Given the description of an element on the screen output the (x, y) to click on. 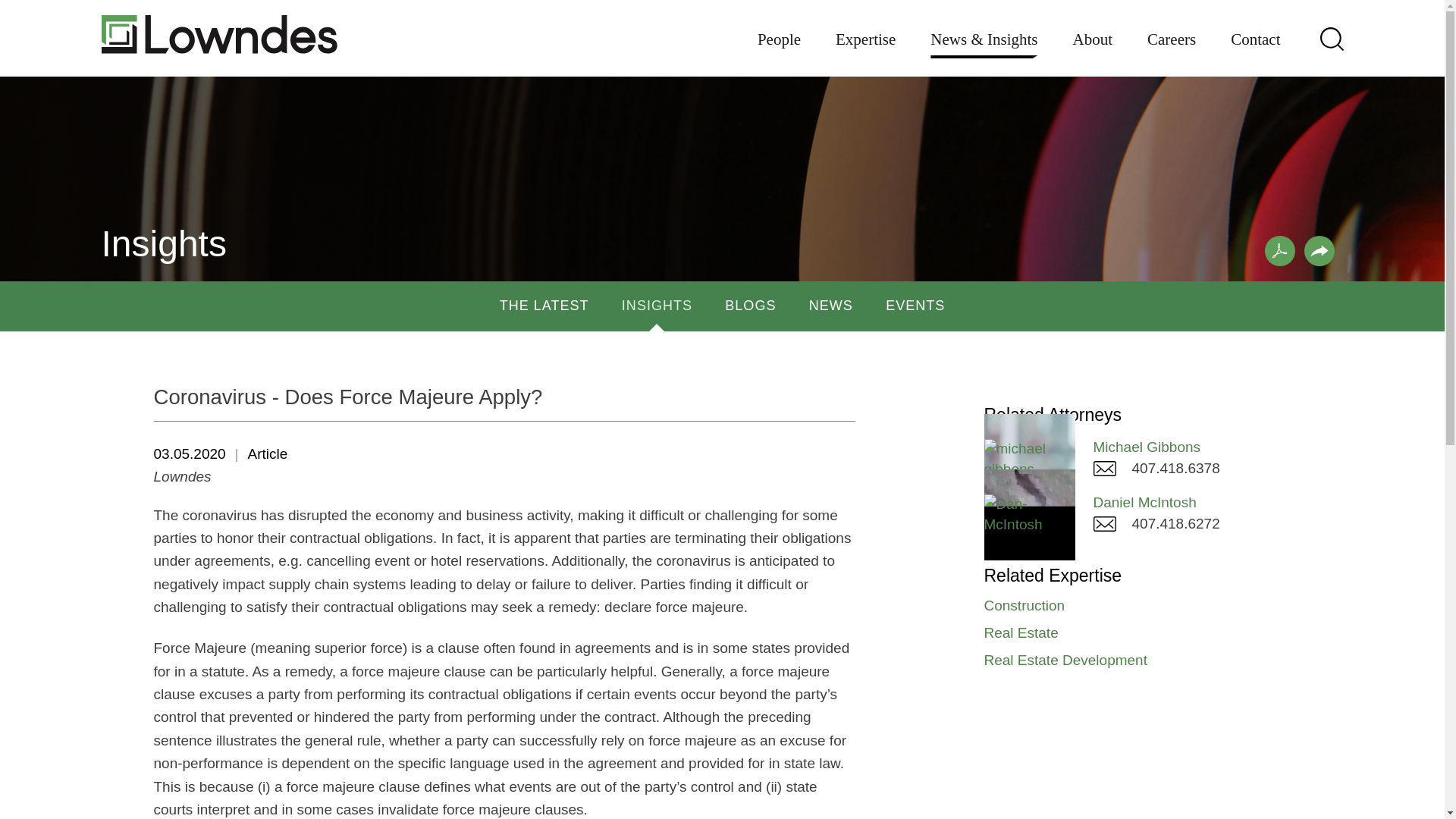
Expertise (865, 49)
Print PDF (1280, 250)
People (778, 49)
Menu (674, 19)
Contact (1254, 49)
Search (1330, 38)
Main Menu (674, 19)
About (1093, 49)
Share (1319, 250)
Main Content (667, 19)
